Given the description of an element on the screen output the (x, y) to click on. 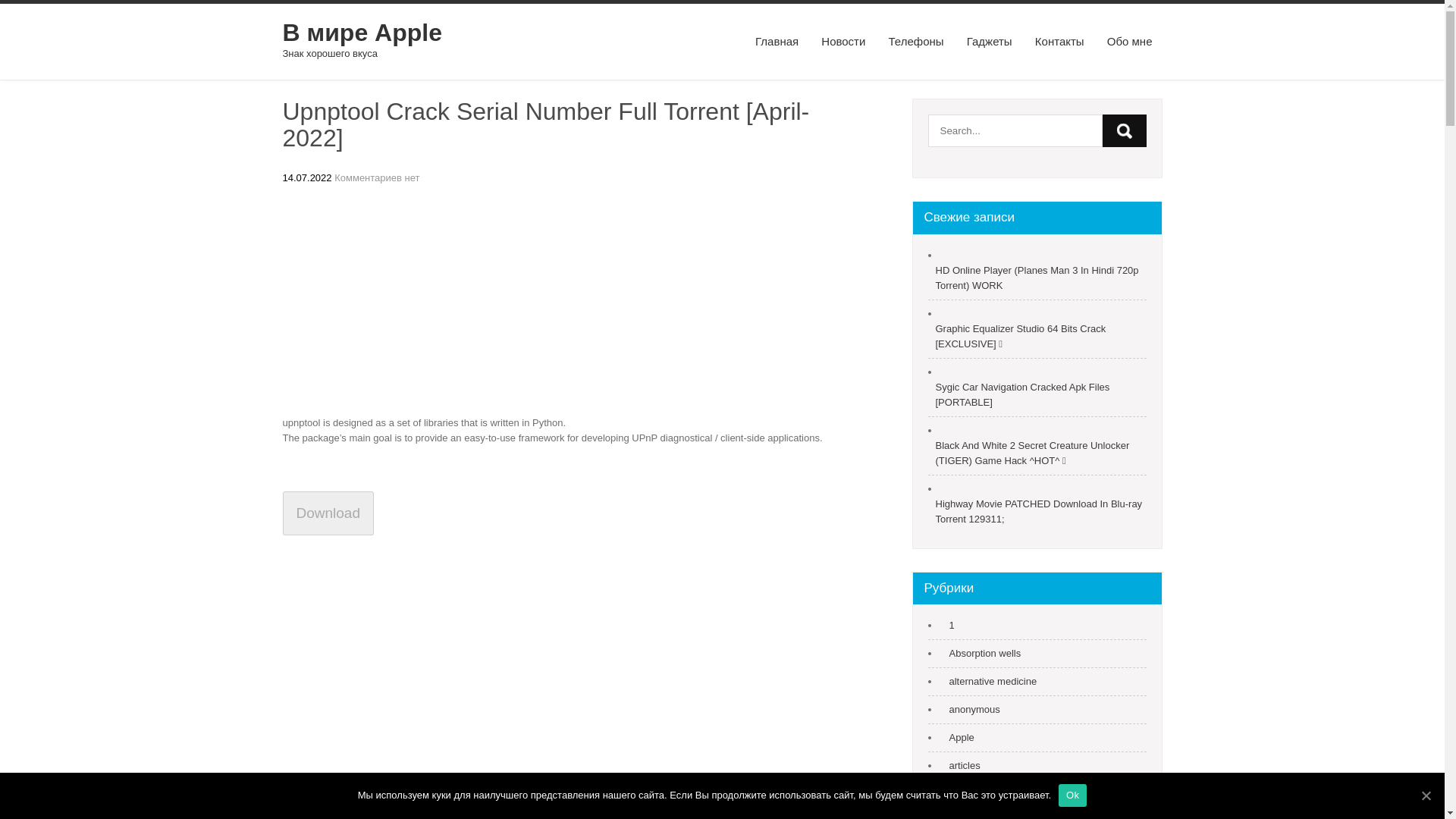
Absorption wells (982, 653)
Search (1124, 130)
Advertisement (562, 714)
anonymous (971, 709)
Advertisement (562, 303)
Download (328, 514)
alternative medicine (989, 681)
Search (1124, 130)
Download (328, 513)
Search (1124, 130)
articles (960, 765)
